Given the description of an element on the screen output the (x, y) to click on. 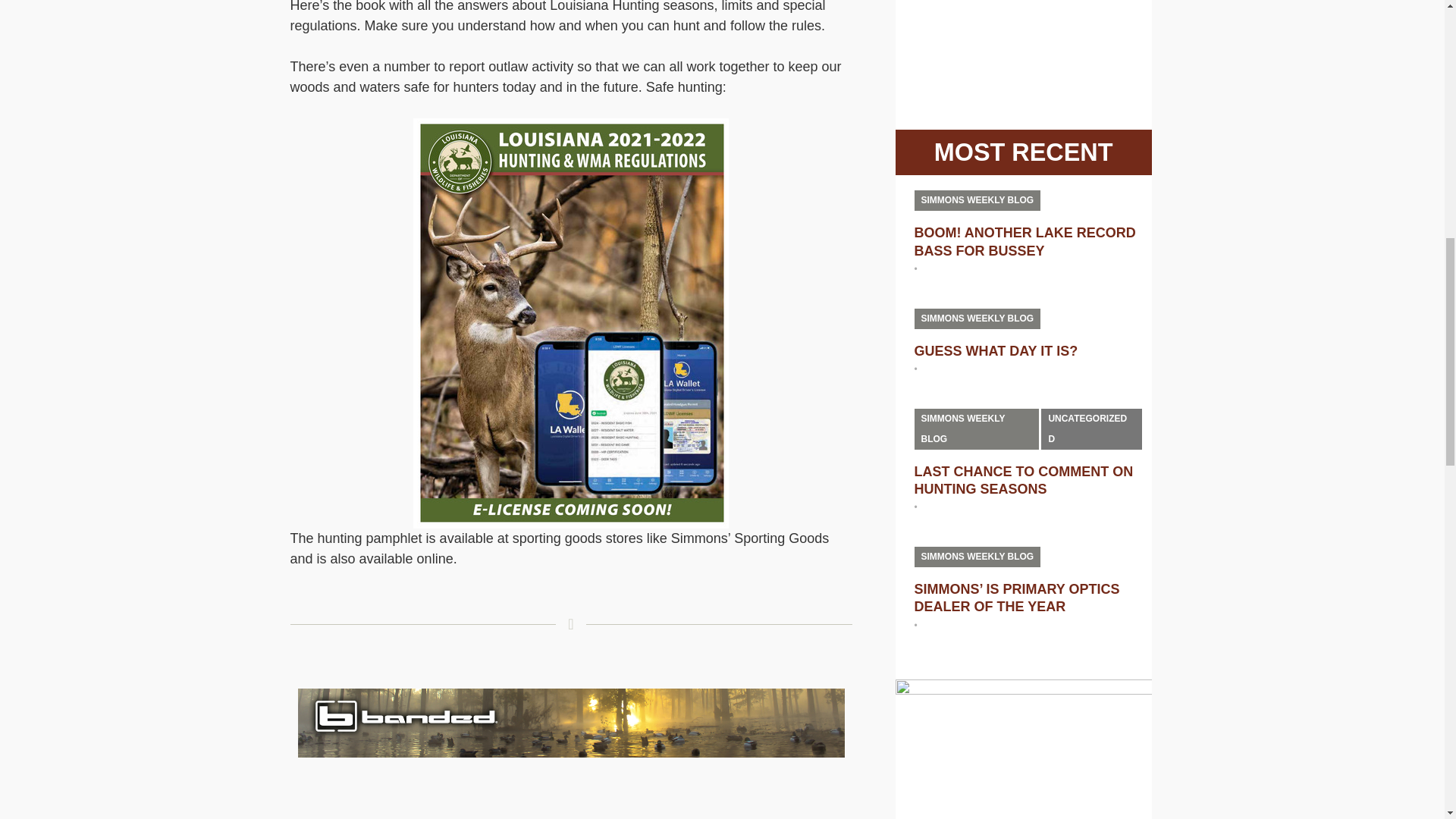
SIMMONS WEEKLY BLOG (977, 557)
GUESS WHAT DAY IT IS? (996, 350)
SIMMONS WEEKLY BLOG (977, 318)
SIMMONS WEEKLY BLOG (976, 428)
UNCATEGORIZED D (1091, 428)
BOOM! ANOTHER LAKE RECORD BASS FOR BUSSEY (1024, 241)
SIMMONS WEEKLY BLOG (977, 200)
LAST CHANCE TO COMMENT ON HUNTING SEASONS (1024, 480)
